Given the description of an element on the screen output the (x, y) to click on. 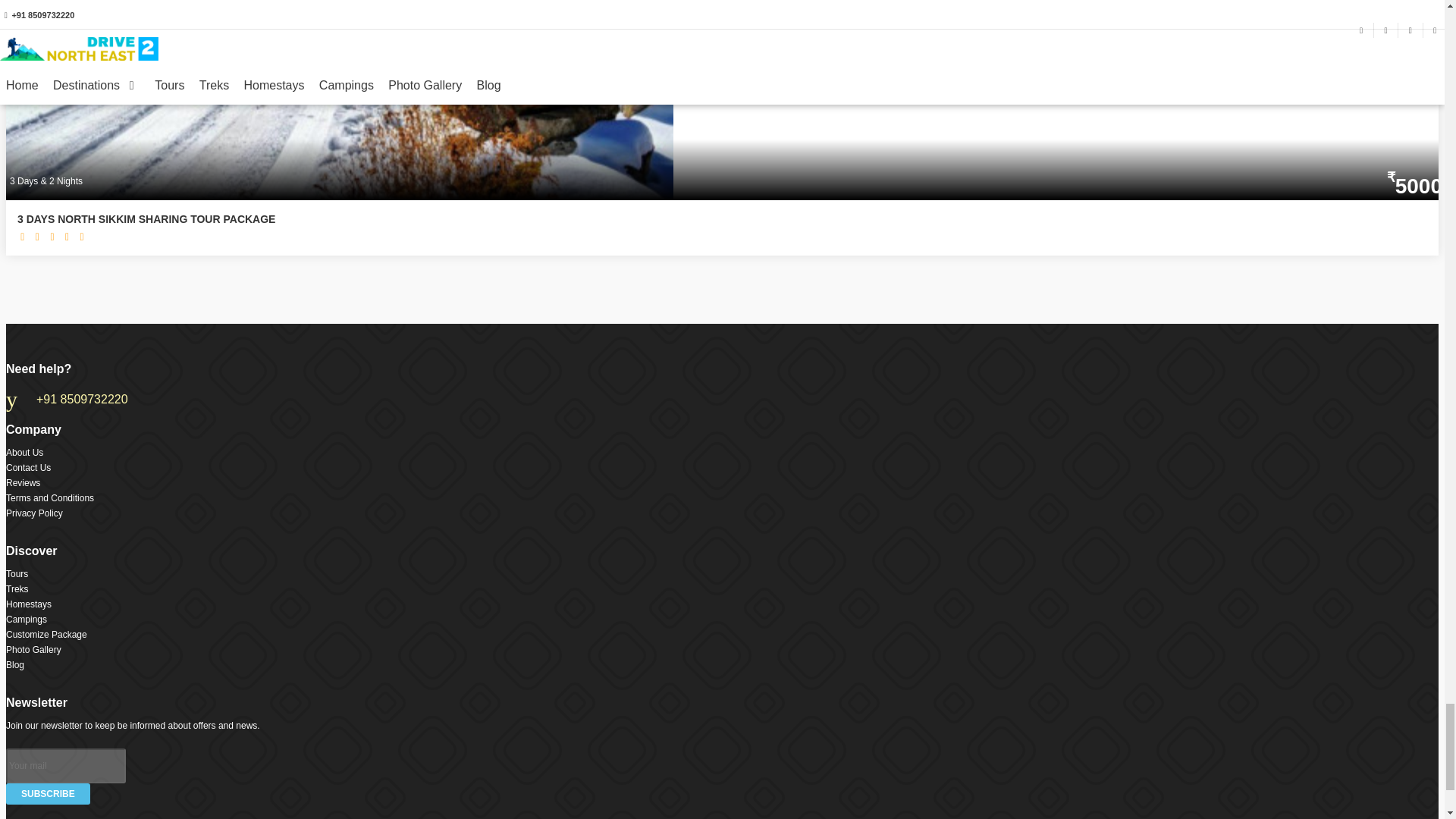
Subscribe (47, 793)
